Given the description of an element on the screen output the (x, y) to click on. 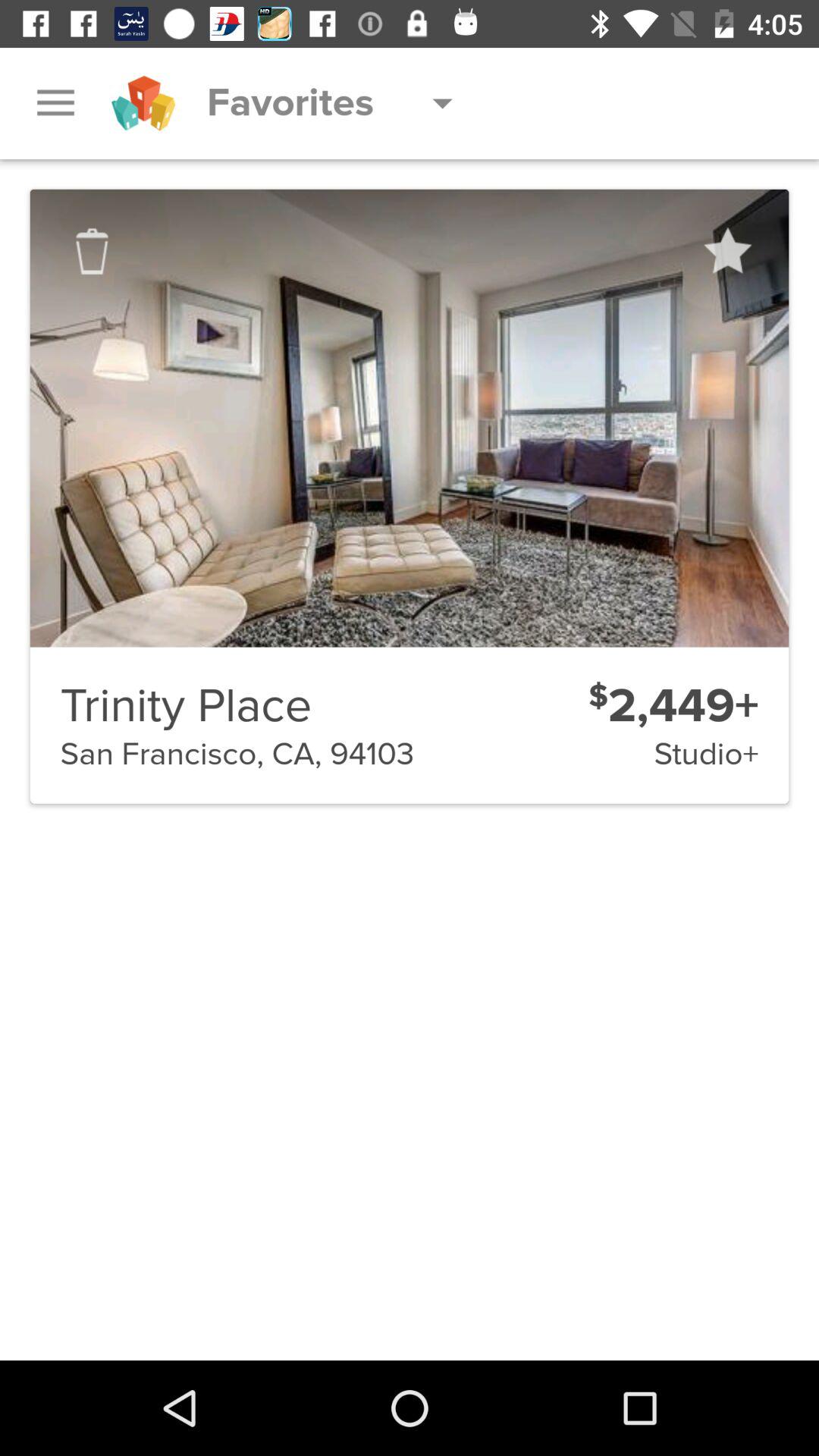
trash (92, 251)
